Given the description of an element on the screen output the (x, y) to click on. 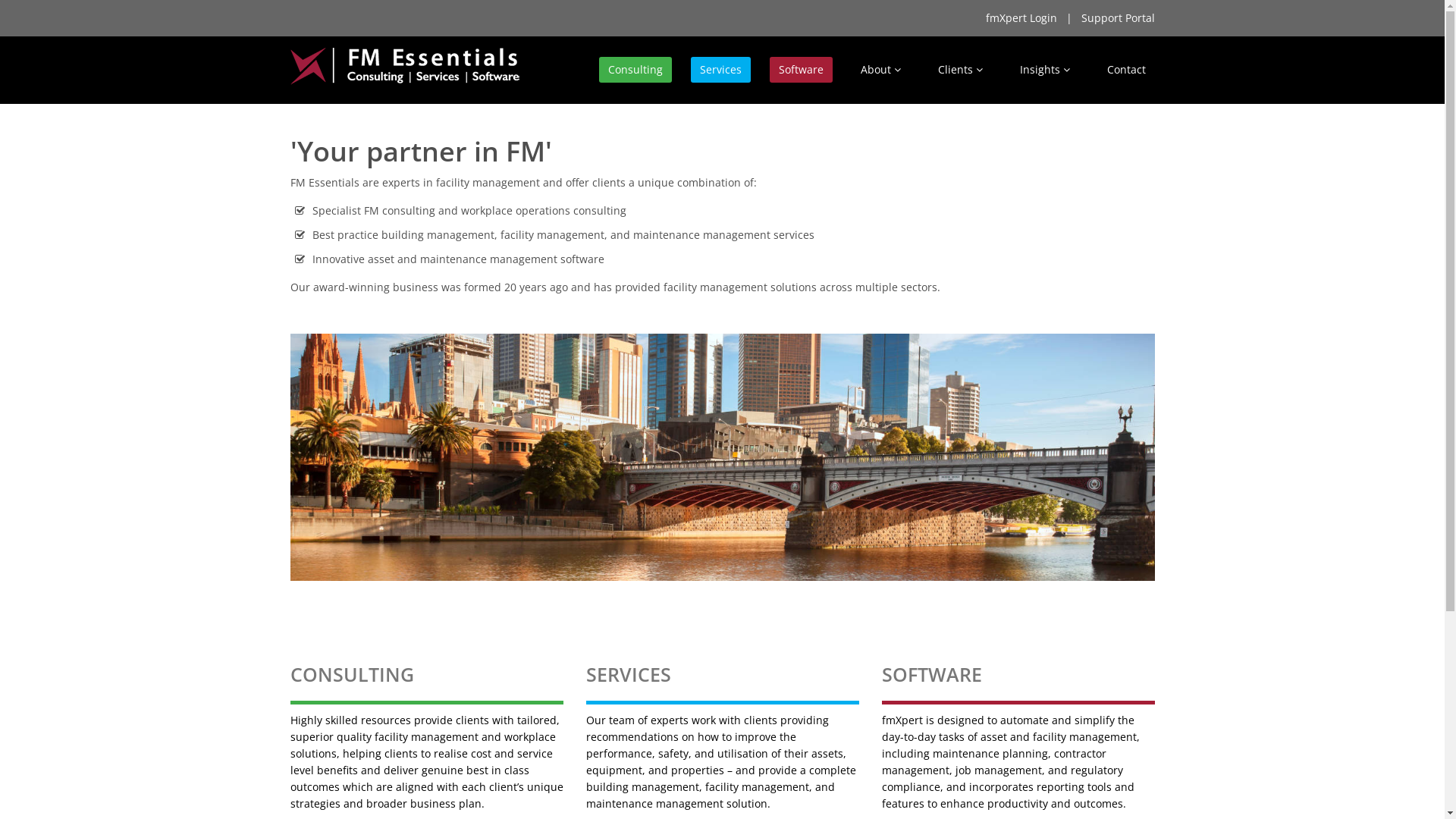
fmXpert Login Element type: text (1021, 17)
Contact Element type: text (1126, 69)
Home - FM consulting Element type: hover (721, 457)
Clients Element type: text (959, 69)
About Element type: text (879, 69)
Software Element type: text (799, 69)
Support Portal Element type: text (1117, 17)
Consulting Element type: text (635, 69)
Insights Element type: text (1044, 69)
Services Element type: text (719, 69)
